Given the description of an element on the screen output the (x, y) to click on. 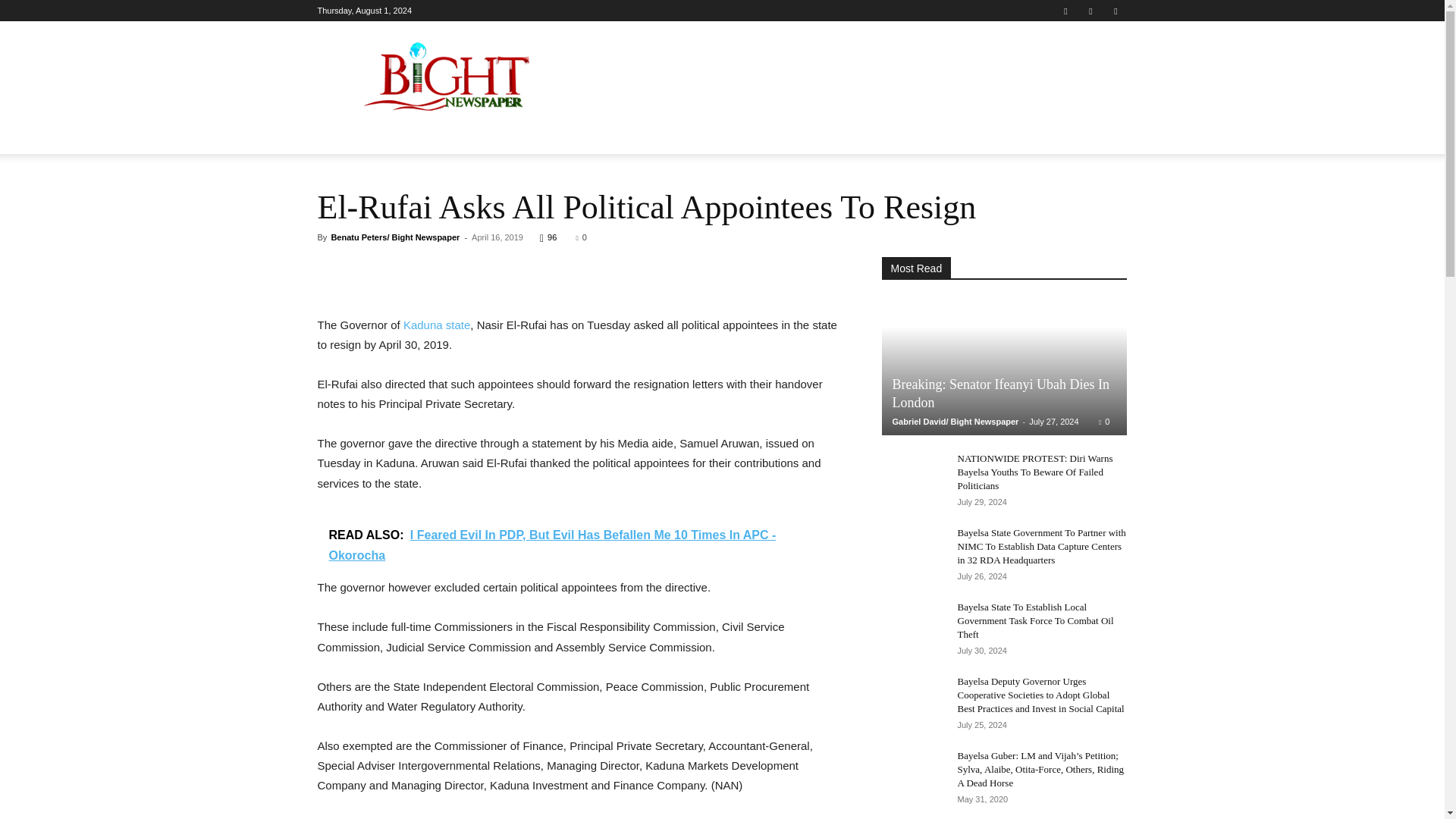
BUSINESS (531, 135)
ENTERTAINMENT (680, 135)
Youtube (1114, 10)
EDITORIAL (905, 135)
POLITICS (458, 135)
0 (580, 236)
Twitter (1090, 10)
Facebook (1065, 10)
SPORTS (767, 135)
HOME (343, 135)
CRIME (596, 135)
Search (1085, 196)
OPINION (833, 135)
NEWS (396, 135)
